Given the description of an element on the screen output the (x, y) to click on. 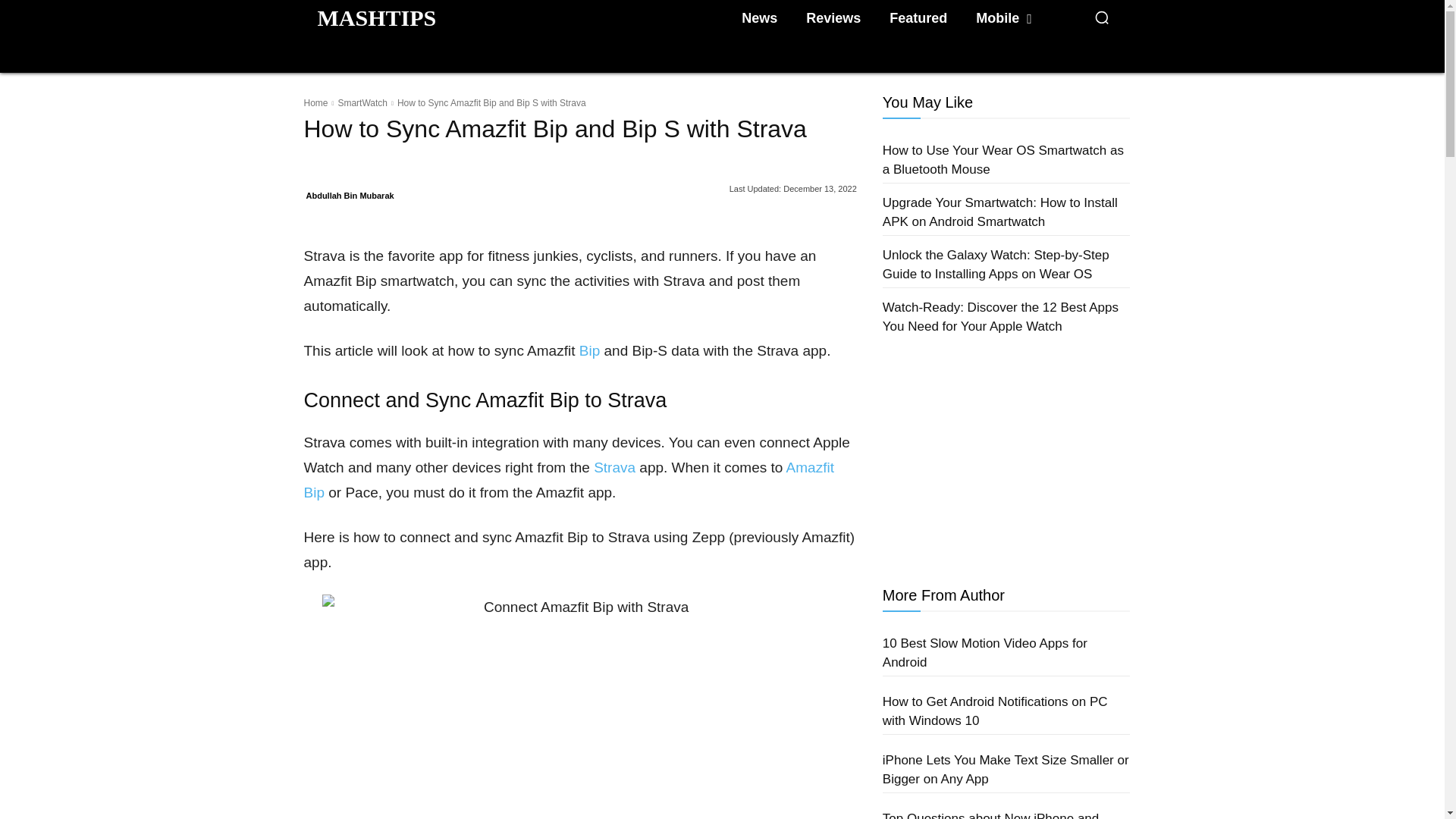
Amazfit Bip (567, 479)
Abdullah Bin Mubarak (349, 195)
MASHTIPS (376, 17)
Featured (918, 18)
Strava (614, 467)
View all posts in SmartWatch (362, 102)
Bip (589, 350)
Mobile (1003, 18)
News (758, 18)
MASHTIPS (376, 17)
